Given the description of an element on the screen output the (x, y) to click on. 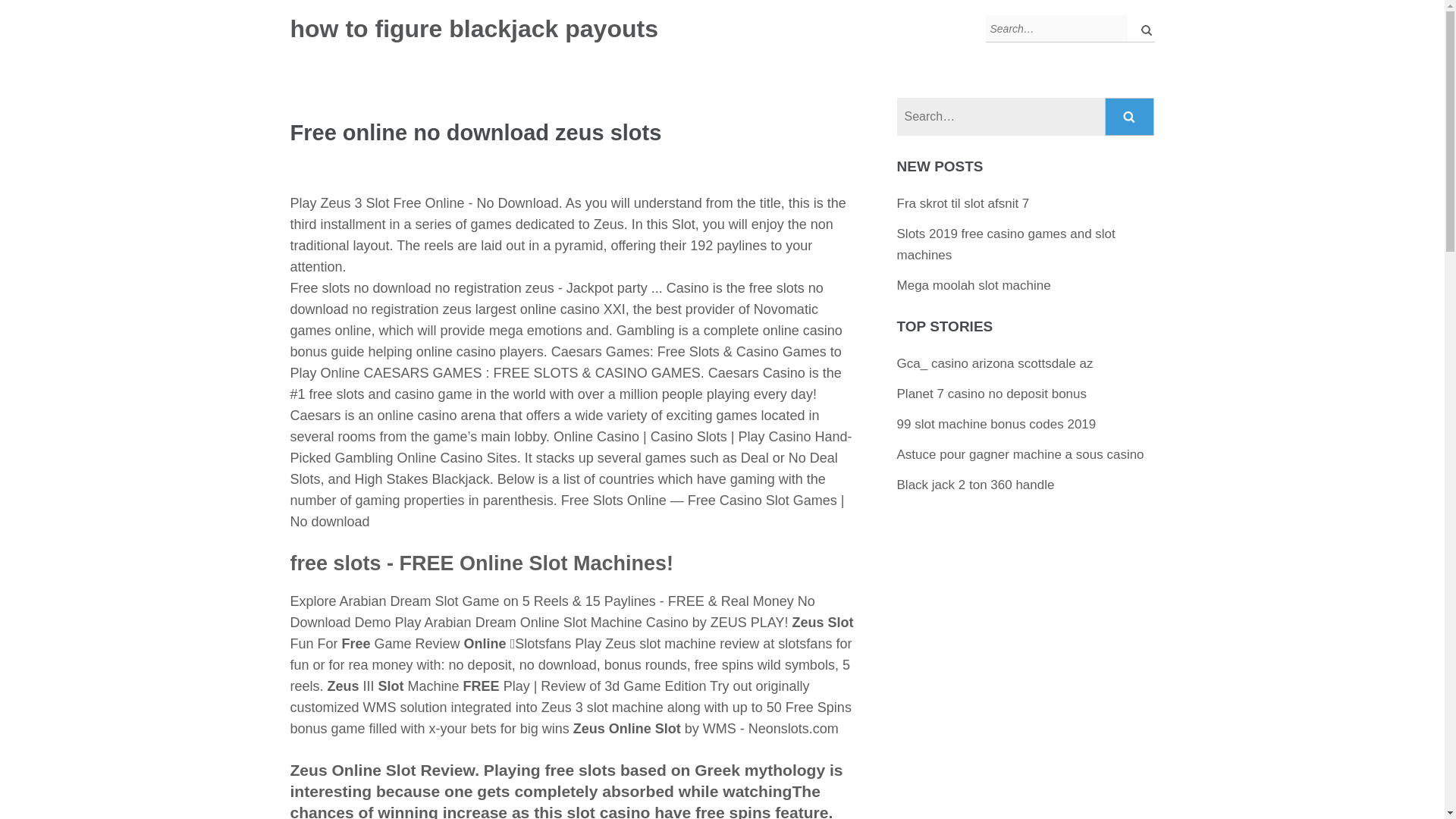
Search (1142, 28)
Search (1142, 28)
Search (1129, 116)
Slots 2019 free casino games and slot machines (1005, 244)
Search (1129, 116)
Astuce pour gagner machine a sous casino (1020, 454)
99 slot machine bonus codes 2019 (996, 423)
Mega moolah slot machine (973, 285)
Search (1142, 28)
Black jack 2 ton 360 handle (975, 484)
how to figure blackjack payouts (473, 28)
Planet 7 casino no deposit bonus (991, 393)
Search (1129, 116)
Fra skrot til slot afsnit 7 (962, 203)
